Given the description of an element on the screen output the (x, y) to click on. 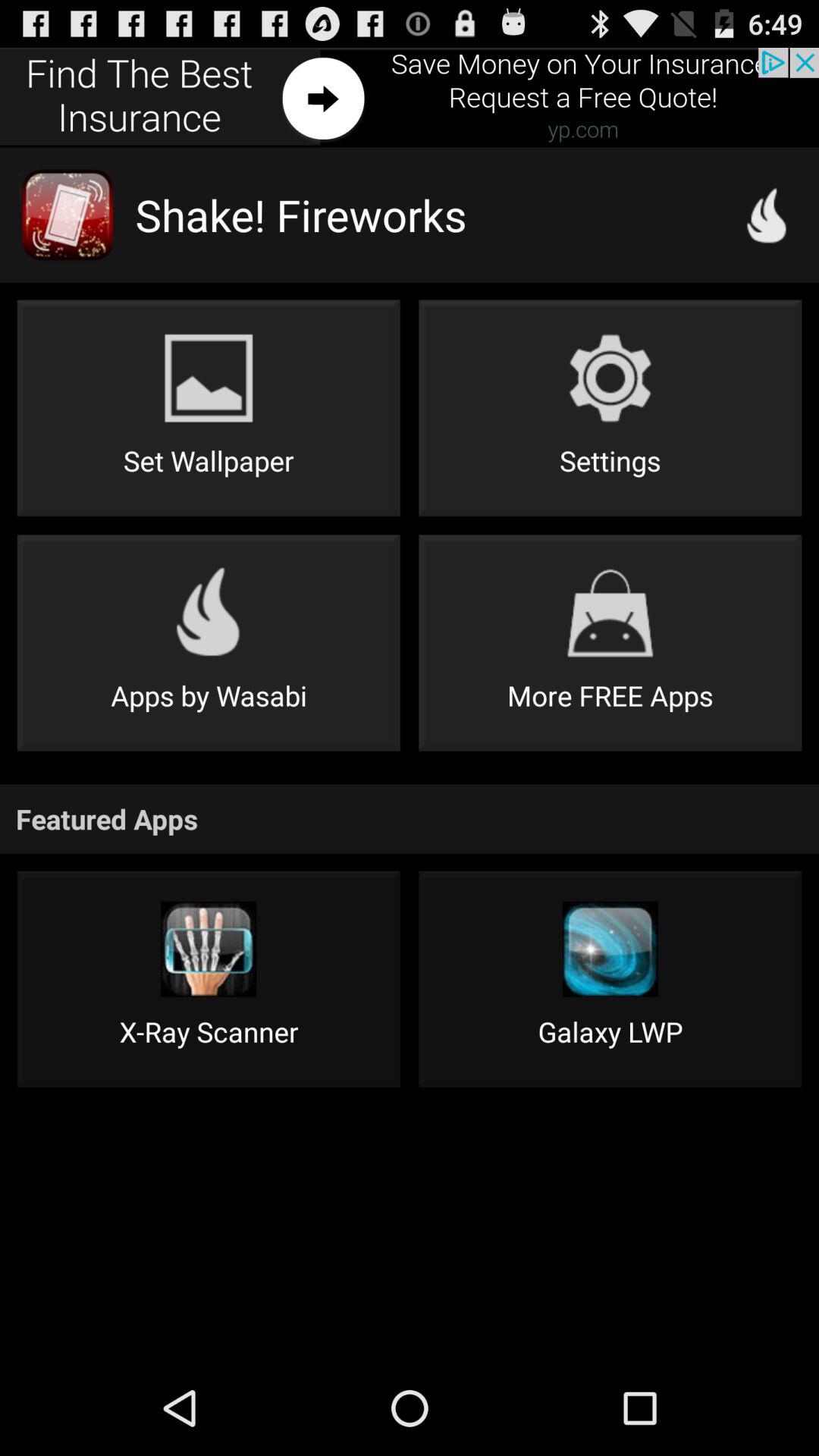
visualizar anncio (409, 97)
